Given the description of an element on the screen output the (x, y) to click on. 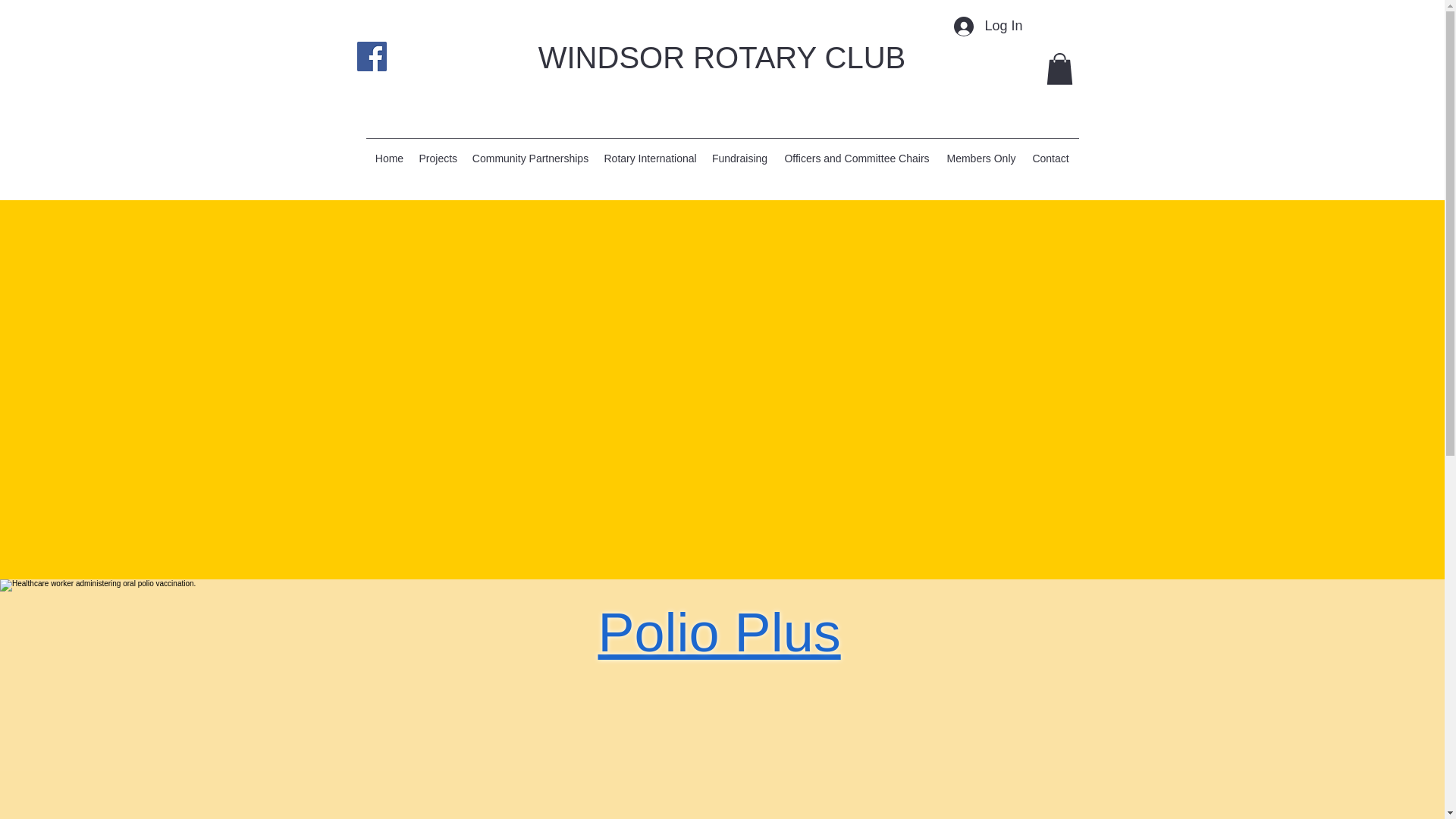
Home (388, 158)
Community Partnerships (529, 158)
Fundraising (738, 158)
Rotary International (649, 158)
Contact (1050, 158)
Officers and Committee Chairs (855, 158)
Log In (987, 26)
Polio Plus (718, 631)
